Given the description of an element on the screen output the (x, y) to click on. 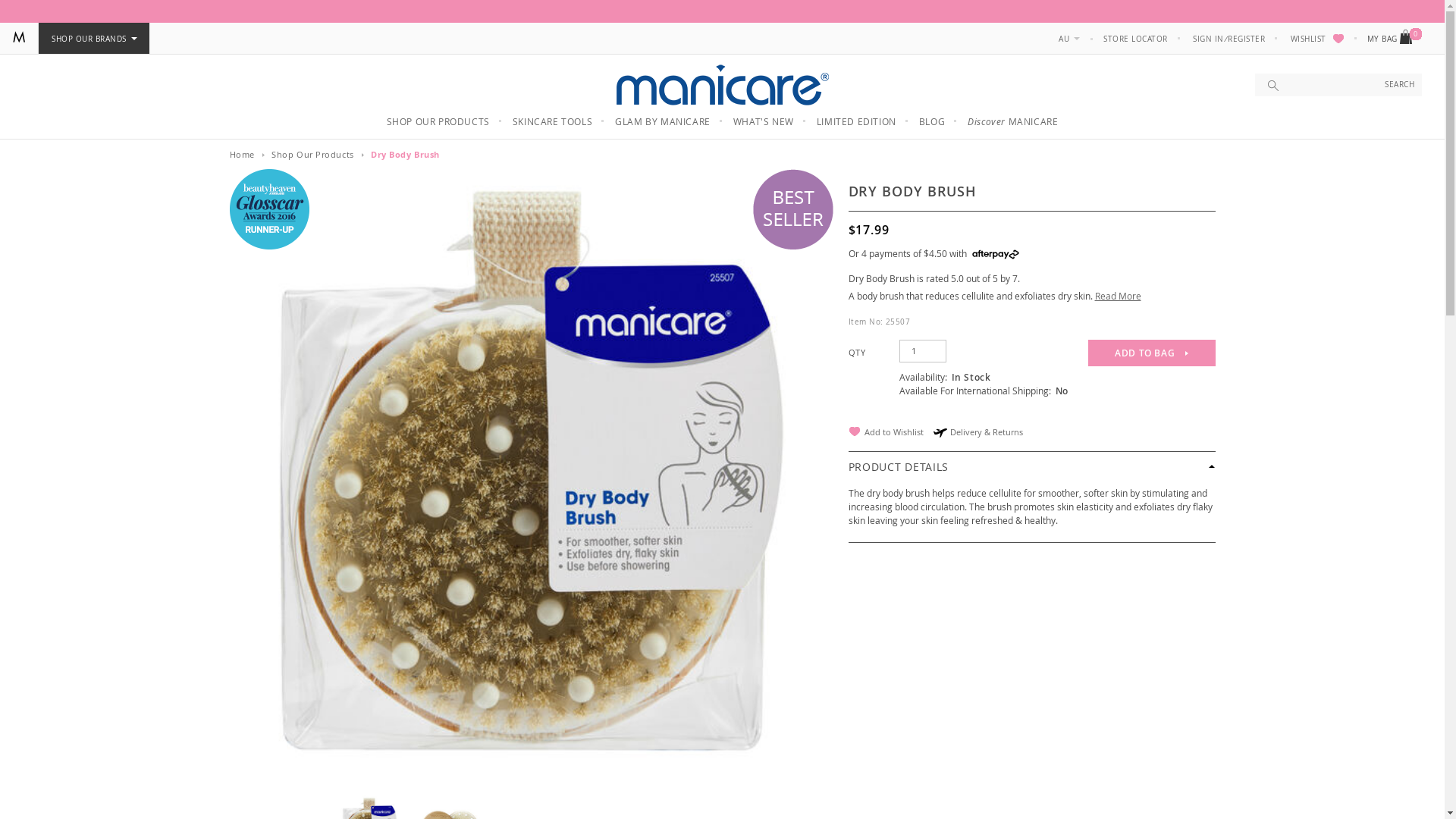
SHOP OUR PRODUCTS (438, 120)
WISHLIST (1316, 38)
AU (1069, 38)
REGISTER (1246, 39)
SHOP OUR BRANDS (93, 39)
STORE LOCATOR (1135, 39)
1 (922, 350)
SIGN IN (1208, 39)
McPherson's  (18, 37)
SEARCH (1399, 84)
